Given the description of an element on the screen output the (x, y) to click on. 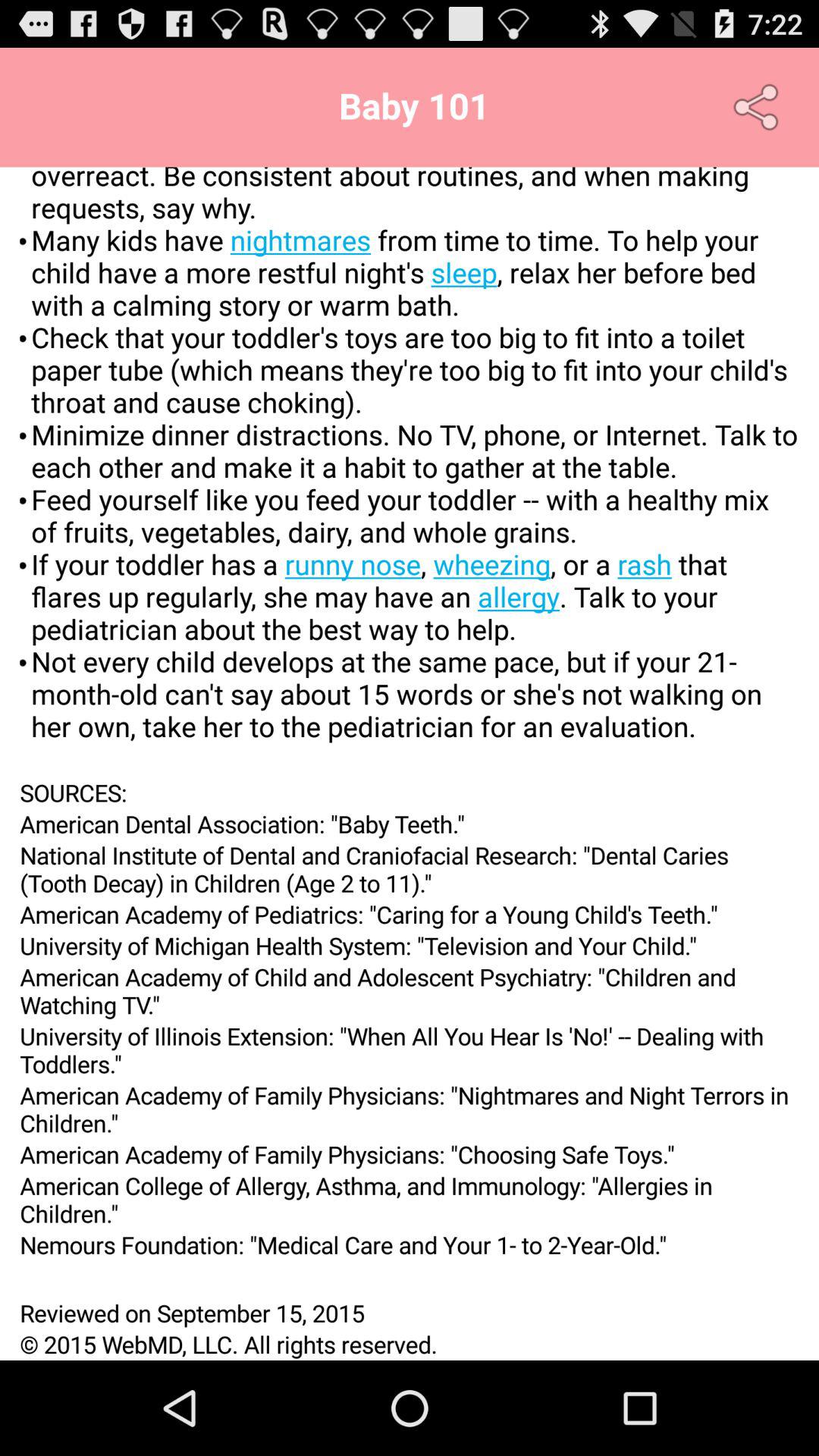
jump to the american dental association item (409, 824)
